Given the description of an element on the screen output the (x, y) to click on. 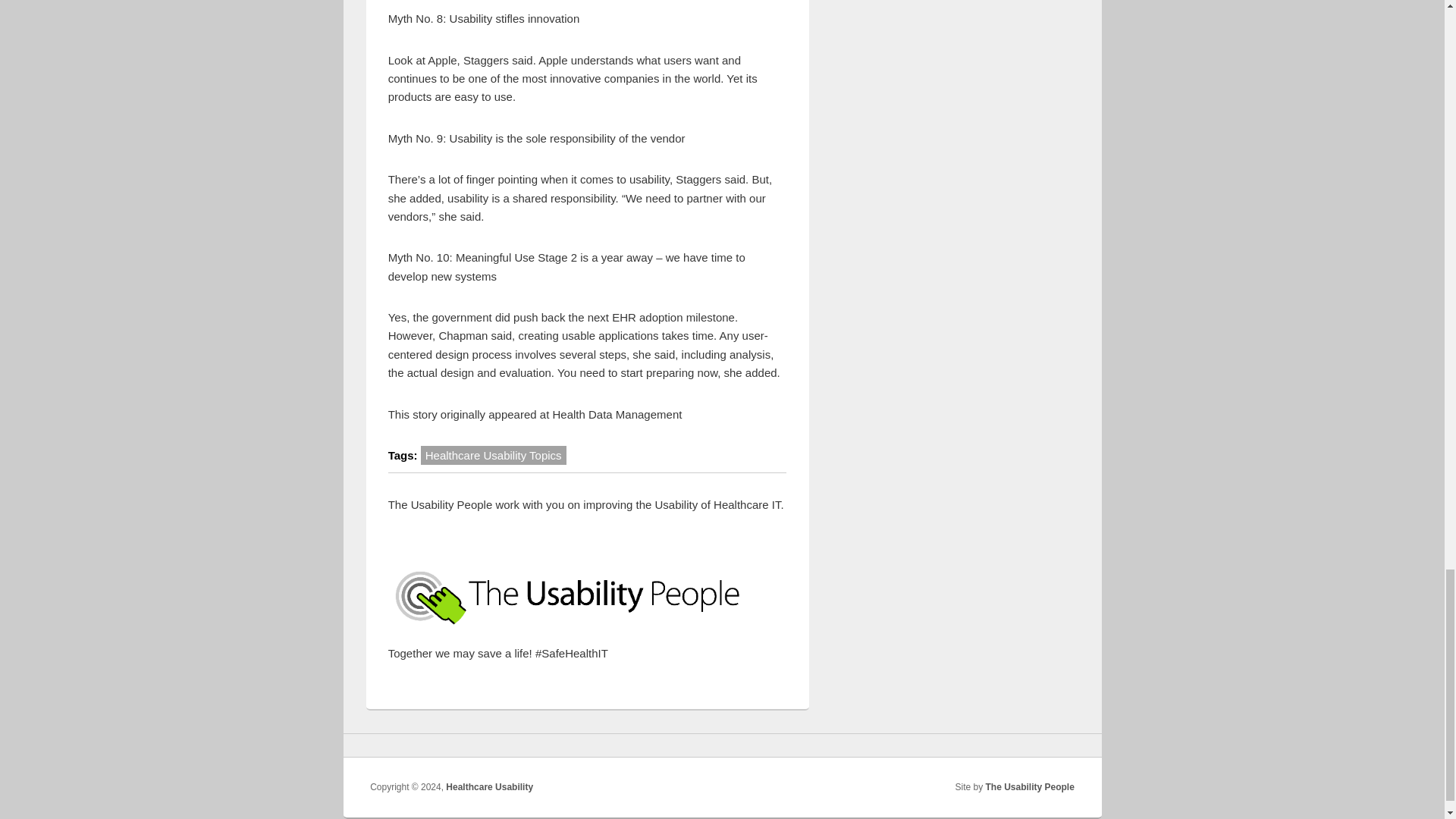
Healthcare Usability (488, 787)
Healthcare Usability Topics (493, 455)
The Usability People (1029, 787)
